Given the description of an element on the screen output the (x, y) to click on. 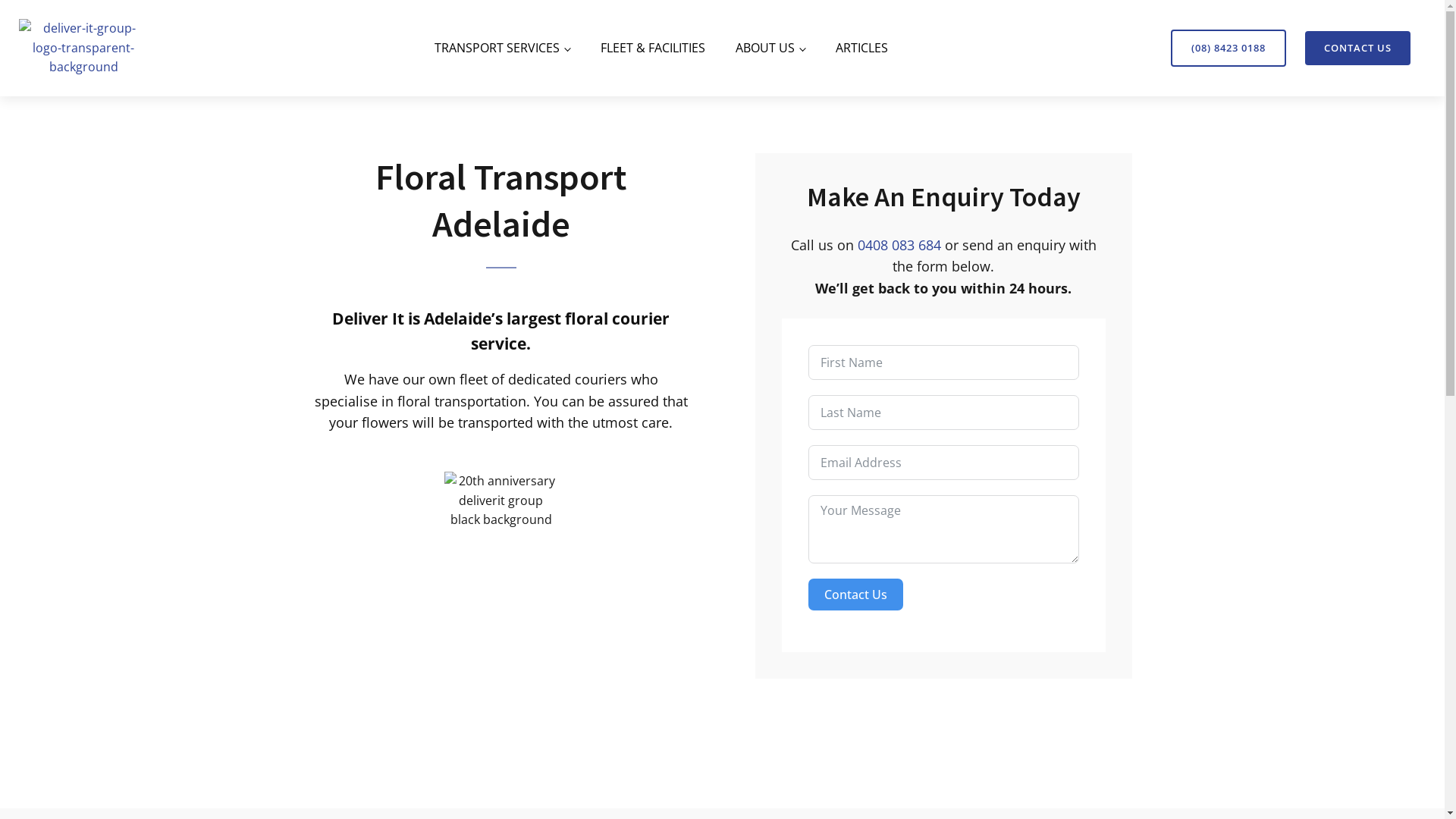
CONTACT US Element type: text (1357, 48)
TRANSPORT SERVICES Element type: text (502, 48)
FLEET & FACILITIES Element type: text (652, 48)
(08) 8423 0188 Element type: text (1228, 47)
Contact Us Element type: text (855, 594)
0408 083 684 Element type: text (899, 245)
ABOUT US Element type: text (770, 48)
ARTICLES Element type: text (861, 48)
